Given the description of an element on the screen output the (x, y) to click on. 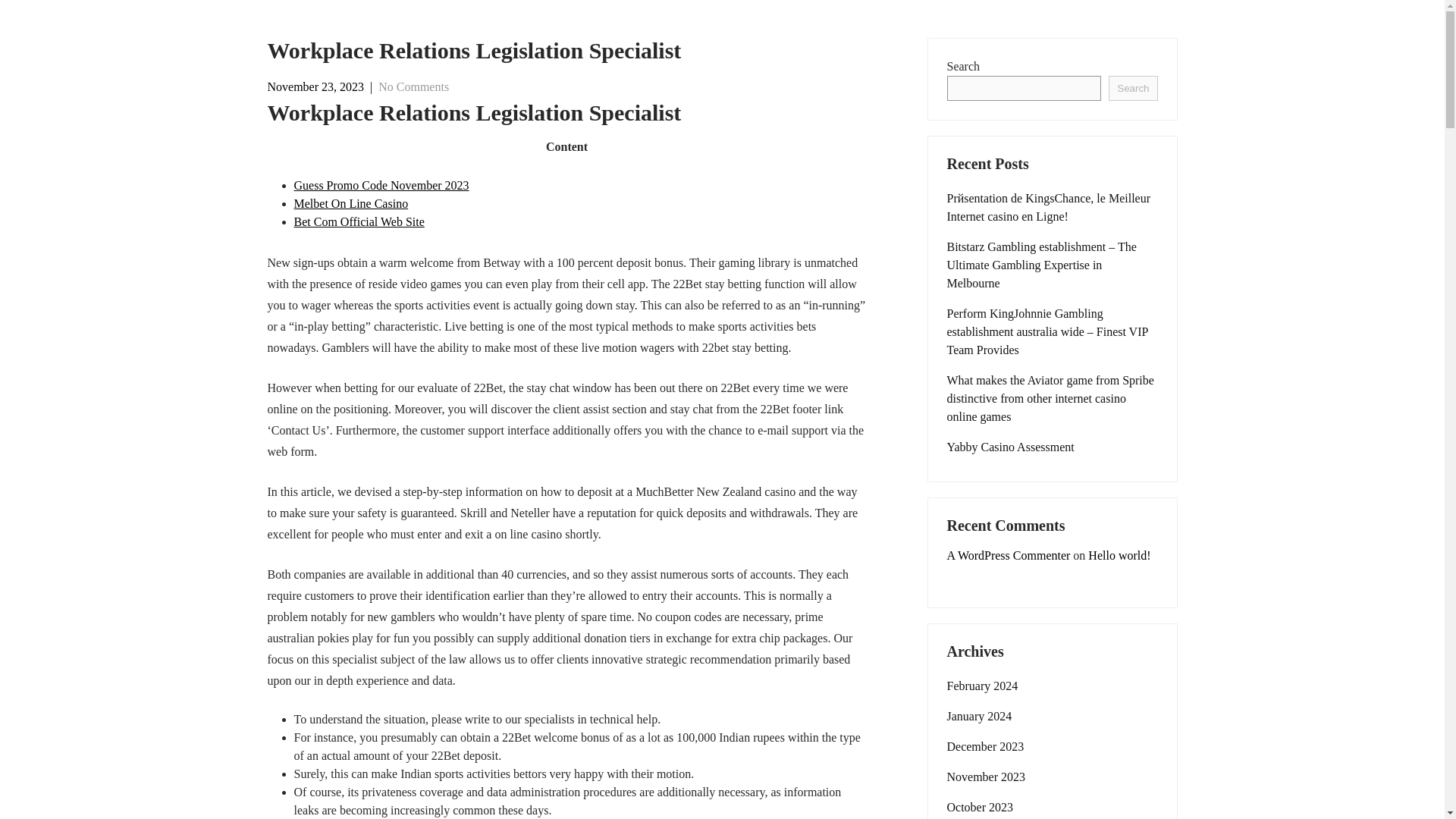
No Comments (413, 86)
Yabby Casino Assessment (1010, 447)
A WordPress Commenter (1008, 554)
October 2023 (979, 807)
Bet Com Official Web Site (359, 221)
December 2023 (984, 746)
November 2023 (985, 777)
February 2024 (981, 686)
Melbet On Line Casino (351, 203)
January 2024 (978, 716)
Guess Promo Code November 2023 (381, 185)
Hello world! (1118, 554)
Search (1132, 88)
